Given the description of an element on the screen output the (x, y) to click on. 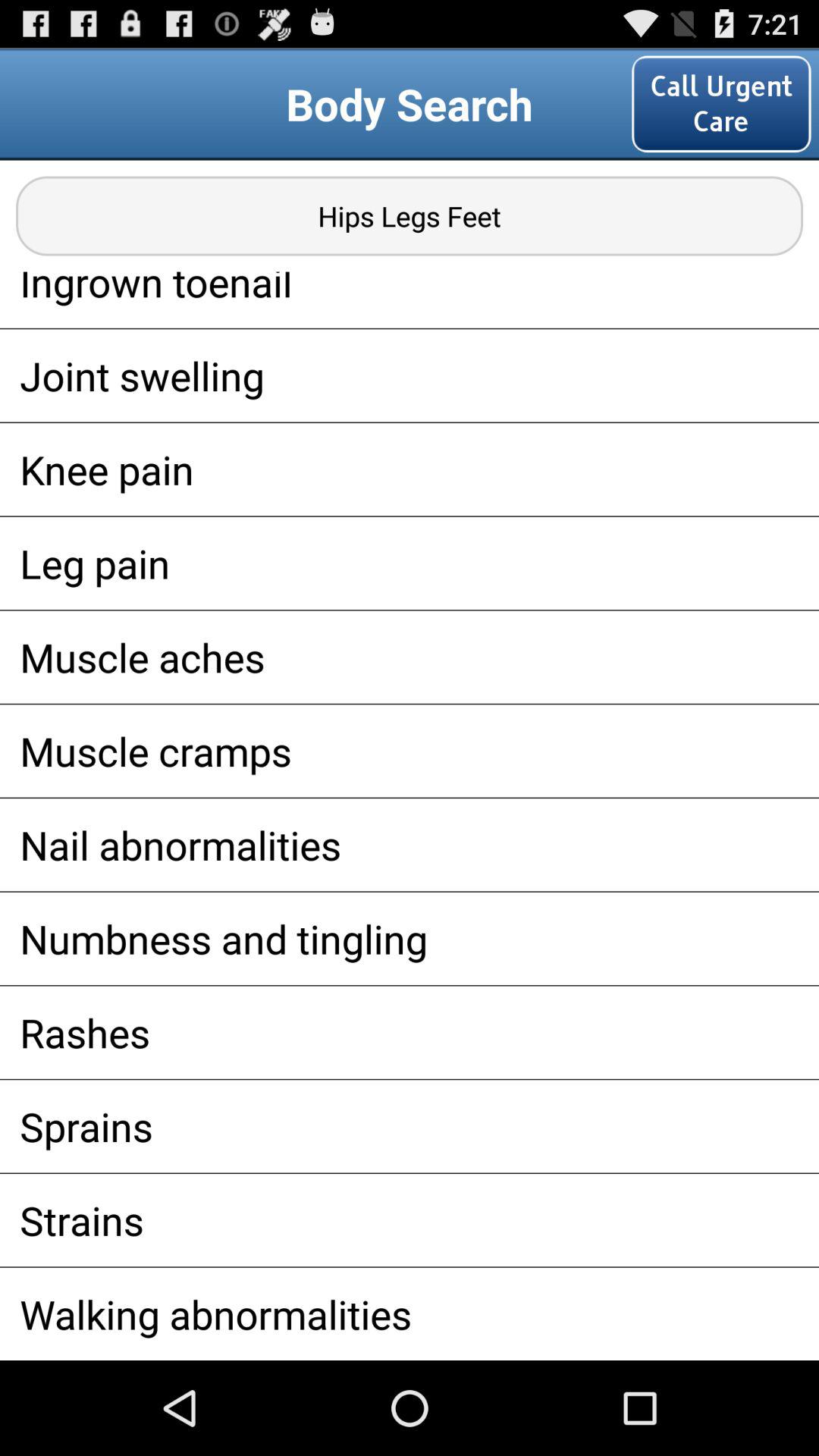
choose sprains (409, 1126)
